Given the description of an element on the screen output the (x, y) to click on. 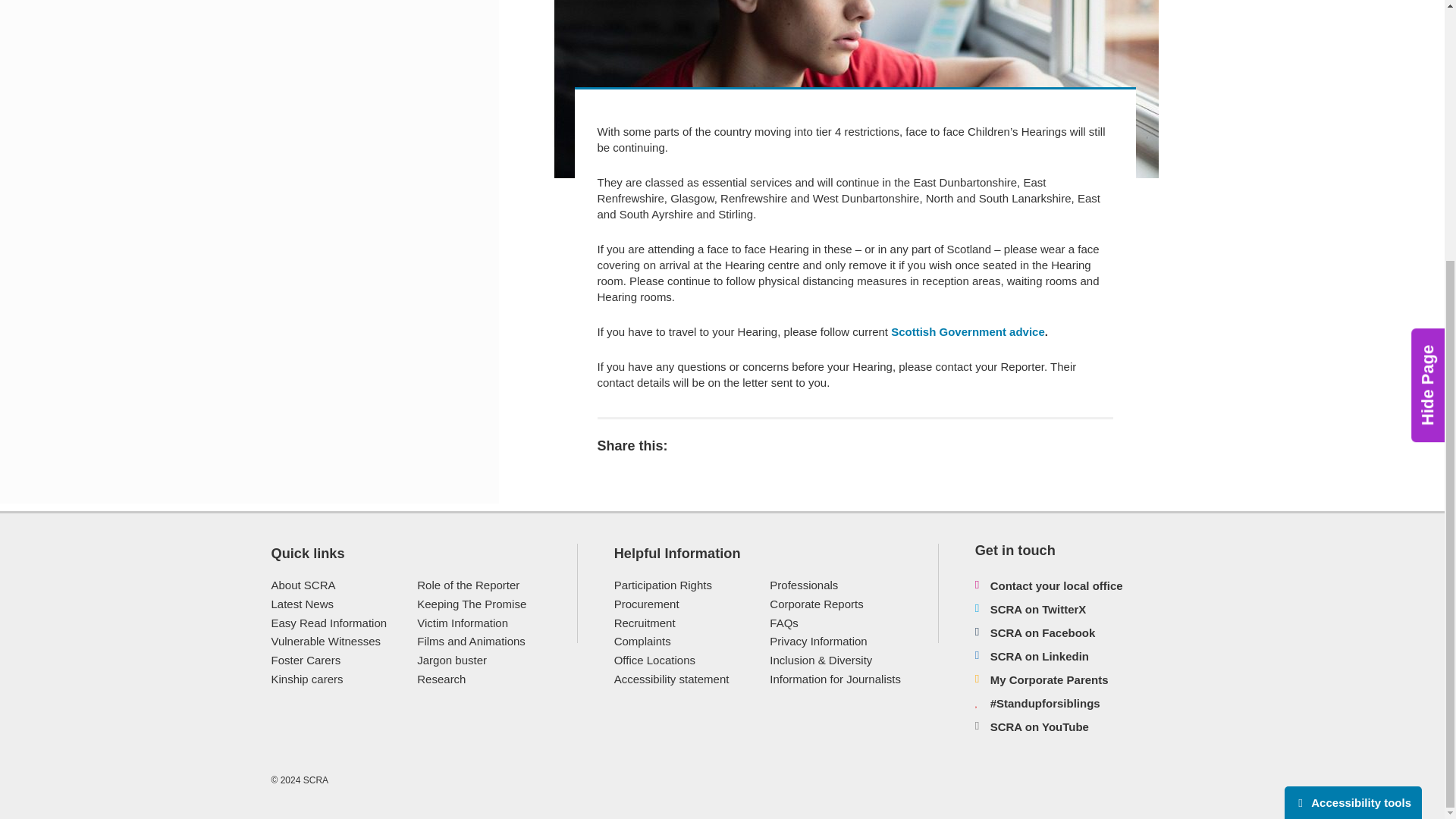
Latest News (302, 603)
Easy Read Information (328, 622)
Research (440, 678)
Vulnerable Witnesses (325, 640)
Role of the Reporter (467, 584)
Participation Rights (662, 584)
Keeping The Promise (470, 603)
Films and Animations (470, 640)
Kinship carers (306, 678)
About SCRA (303, 584)
